Given the description of an element on the screen output the (x, y) to click on. 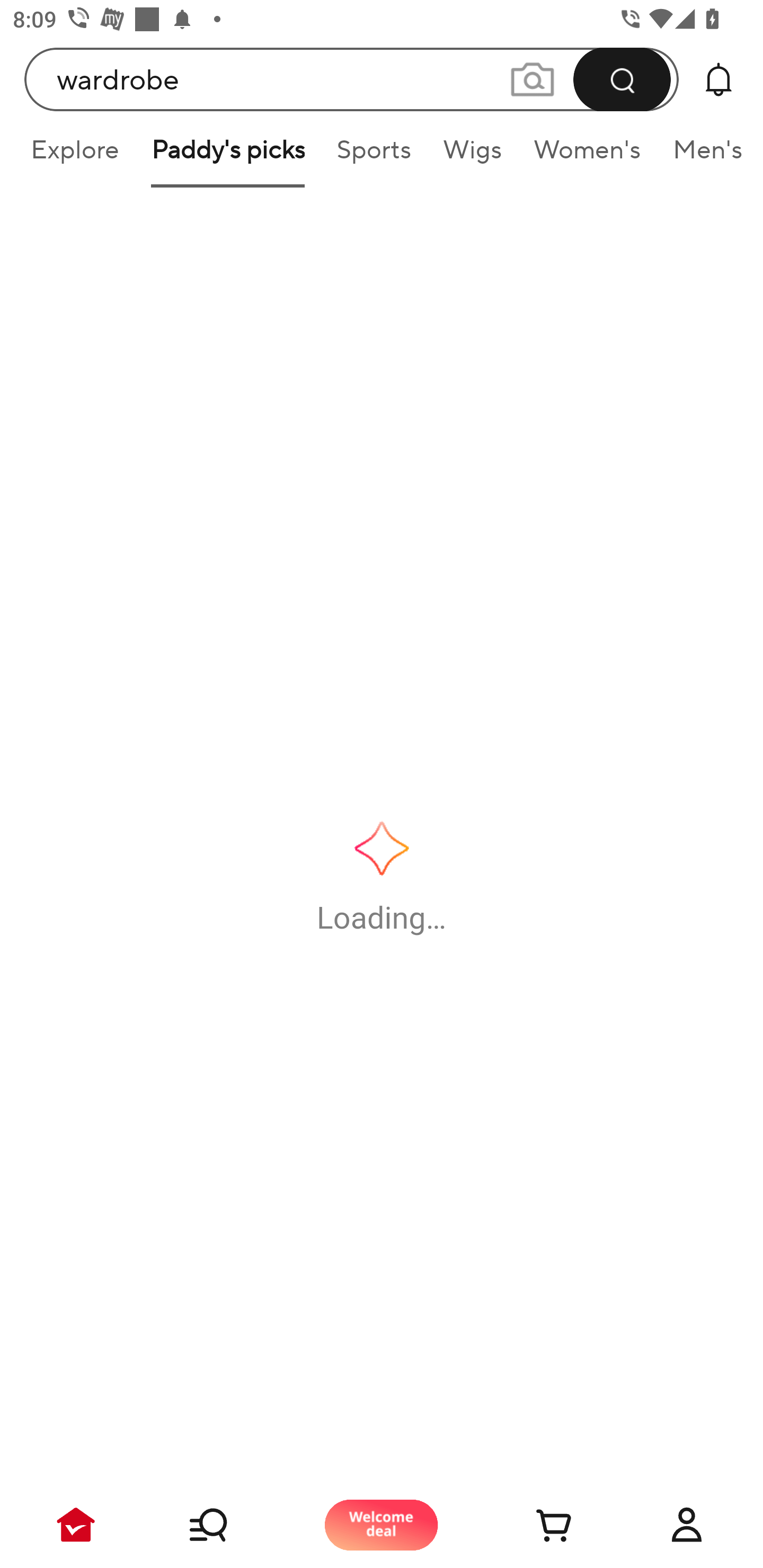
wardrobe (351, 79)
Explore (74, 155)
Sports (373, 155)
Wigs (472, 155)
Women's (586, 155)
Men's (701, 155)
Shop (228, 1524)
Cart (533, 1524)
Account (686, 1524)
